Given the description of an element on the screen output the (x, y) to click on. 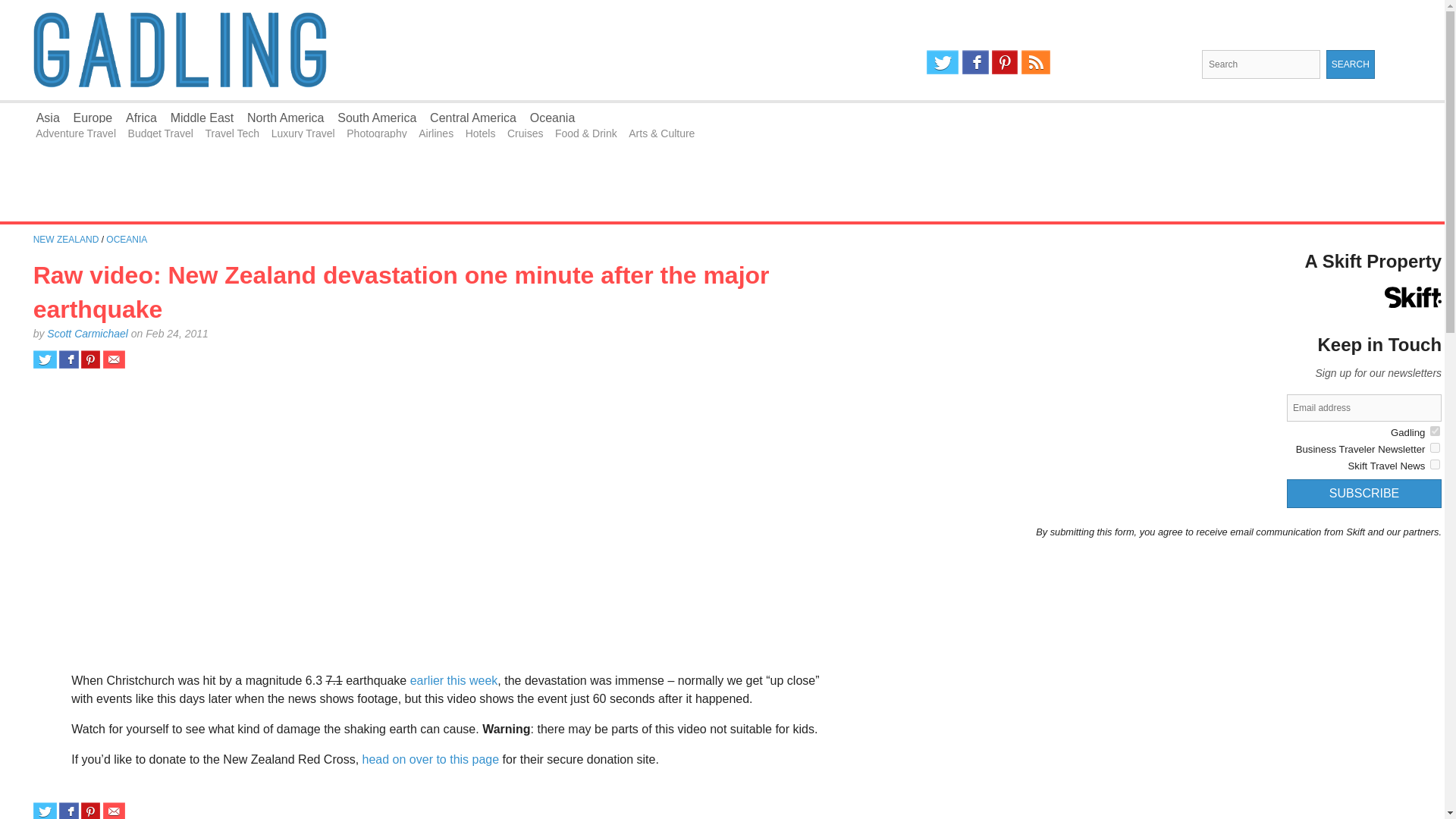
Cruises (524, 133)
earlier this week (453, 680)
Share on Twitter (44, 810)
Share via email (114, 359)
256 (1434, 430)
Share via email (114, 810)
Share on Pinterest (90, 810)
North America (285, 117)
2 (1434, 447)
Central America (472, 117)
